Given the description of an element on the screen output the (x, y) to click on. 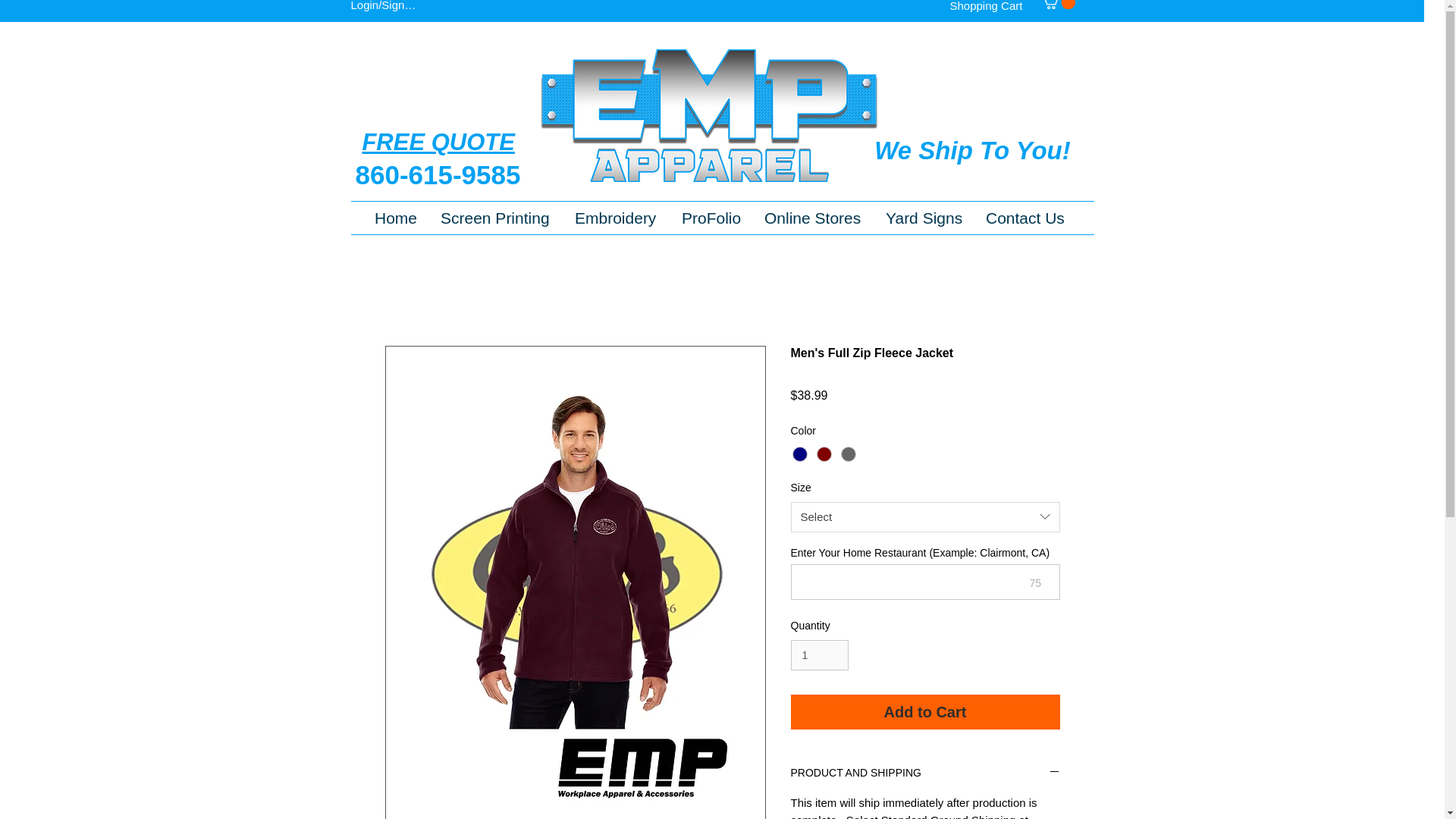
Embroidery (616, 217)
Select (924, 517)
ProFolio (710, 217)
Add to Cart (924, 711)
Home (395, 217)
Contact Us (1025, 217)
EMP-Logo-300ppi.jpg (708, 115)
Yard Signs (924, 217)
PRODUCT AND SHIPPING (924, 773)
Screen Printing (496, 217)
1 (818, 654)
FREE QUOTE  (441, 141)
